Given the description of an element on the screen output the (x, y) to click on. 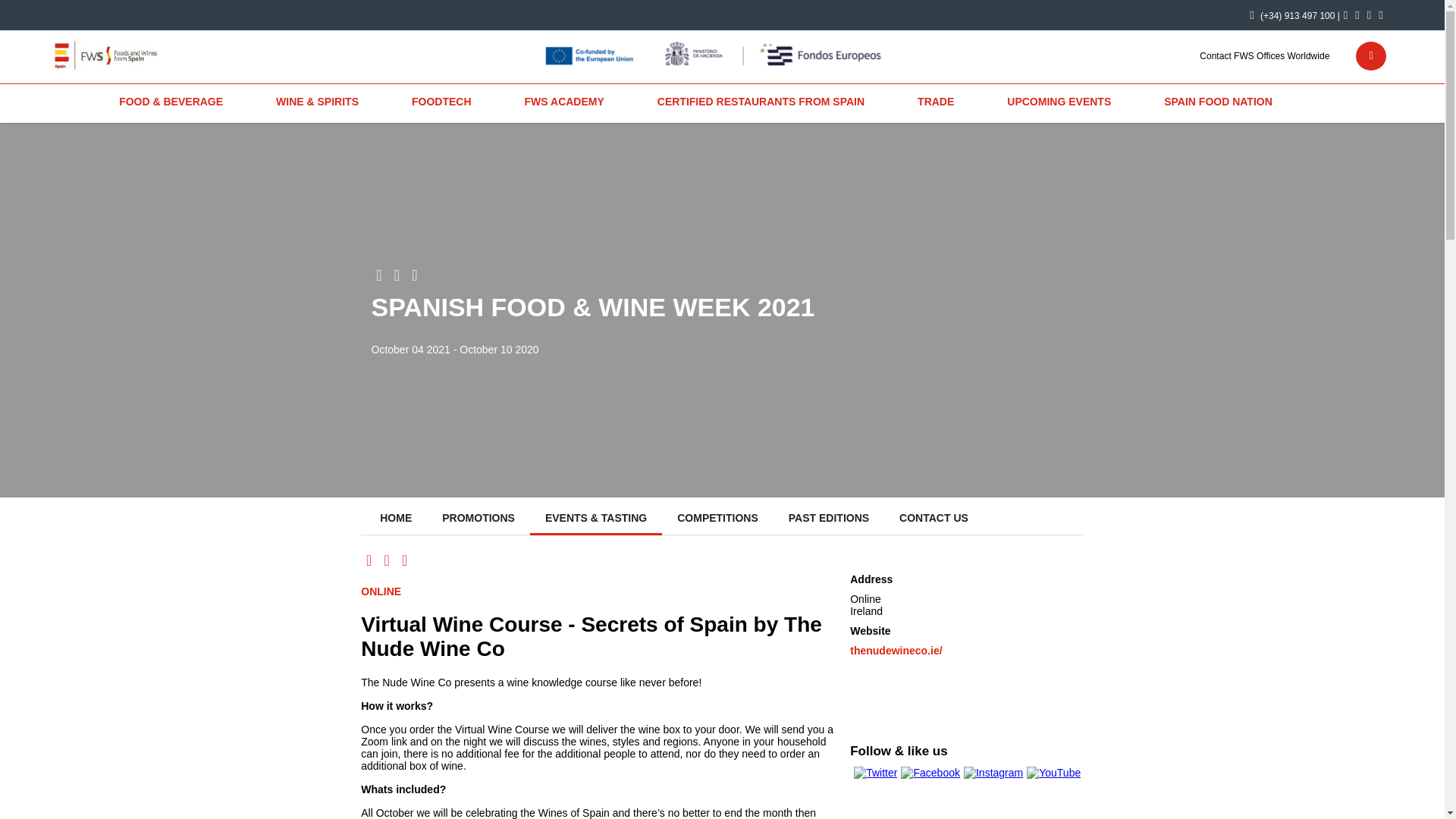
Contact FWS Offices Worldwide (1264, 54)
YouTube (1368, 14)
Link to general browser (1361, 54)
Foods and Wines from Spain (126, 54)
Link a feder 2 (716, 54)
FOODTECH (441, 101)
CERTIFIED RESTAURANTS FROM SPAIN (761, 101)
Twitter (1345, 14)
Facebook (1356, 14)
FWS ACADEMY (564, 101)
